Given the description of an element on the screen output the (x, y) to click on. 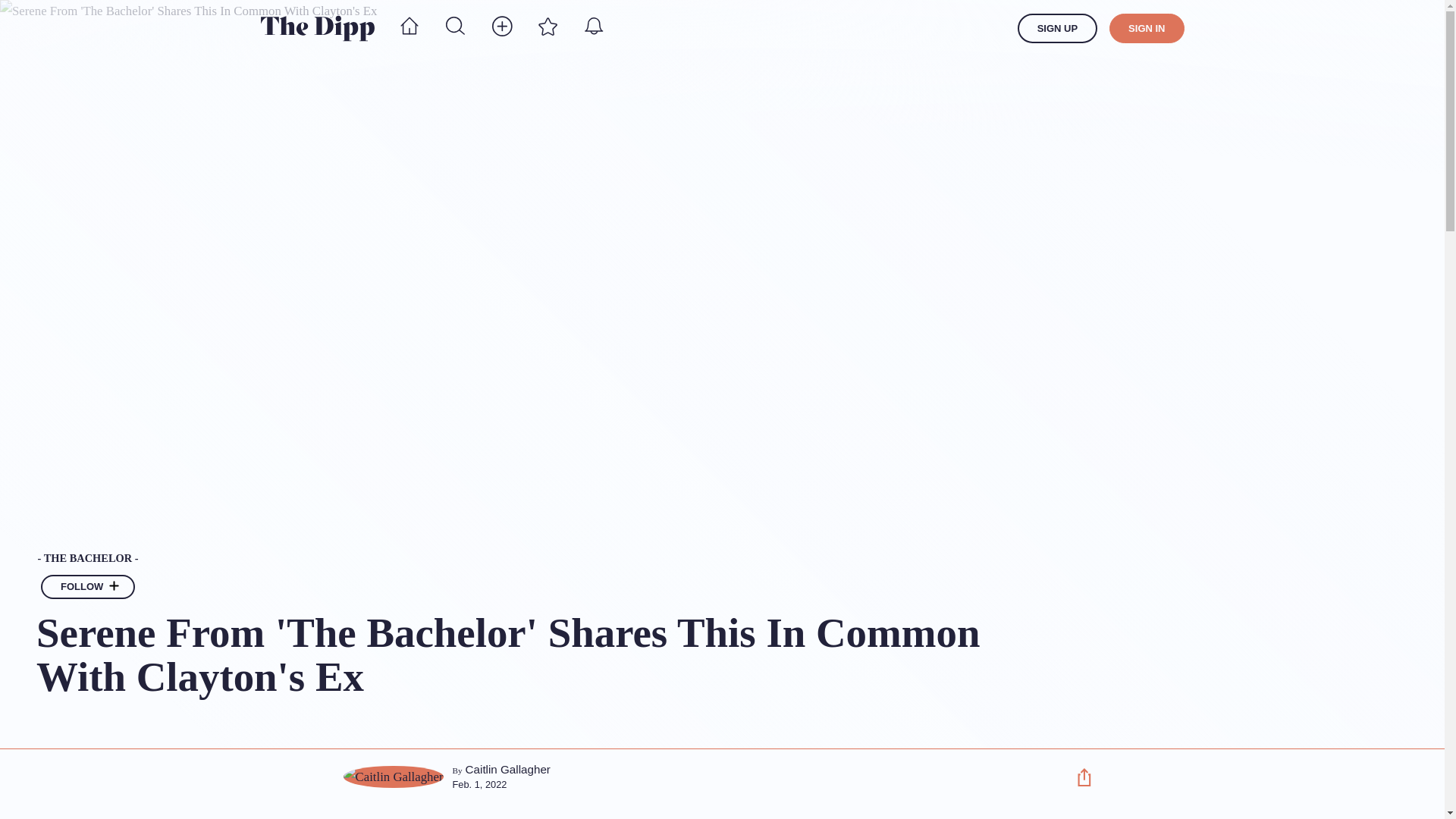
Caitlin Gallagher (507, 768)
- THE BACHELOR - (542, 559)
SIGN IN (1146, 28)
Dipp (317, 28)
FOLLOW (87, 586)
SIGN UP (1057, 28)
